Given the description of an element on the screen output the (x, y) to click on. 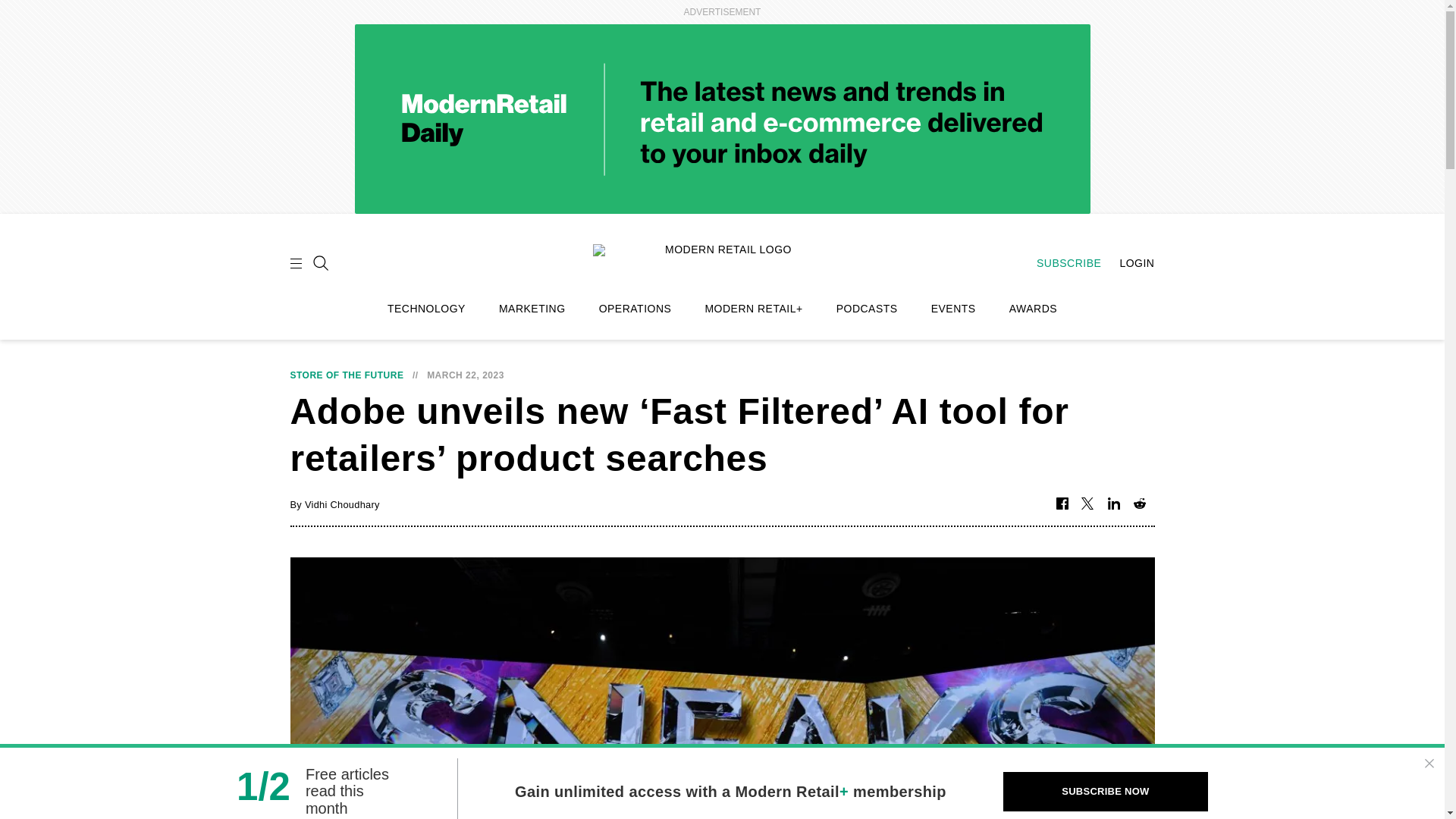
Modern Retail home (722, 261)
TECHNOLOGY (426, 308)
MARKETING (532, 308)
EVENTS (953, 308)
Share on Twitter (1087, 504)
PODCASTS (866, 308)
LOGIN (1128, 262)
Share on Facebook (1061, 504)
OPERATIONS (634, 308)
Share on LinkedIn (1113, 504)
SUBSCRIBE (1061, 262)
AWARDS (1033, 308)
